Given the description of an element on the screen output the (x, y) to click on. 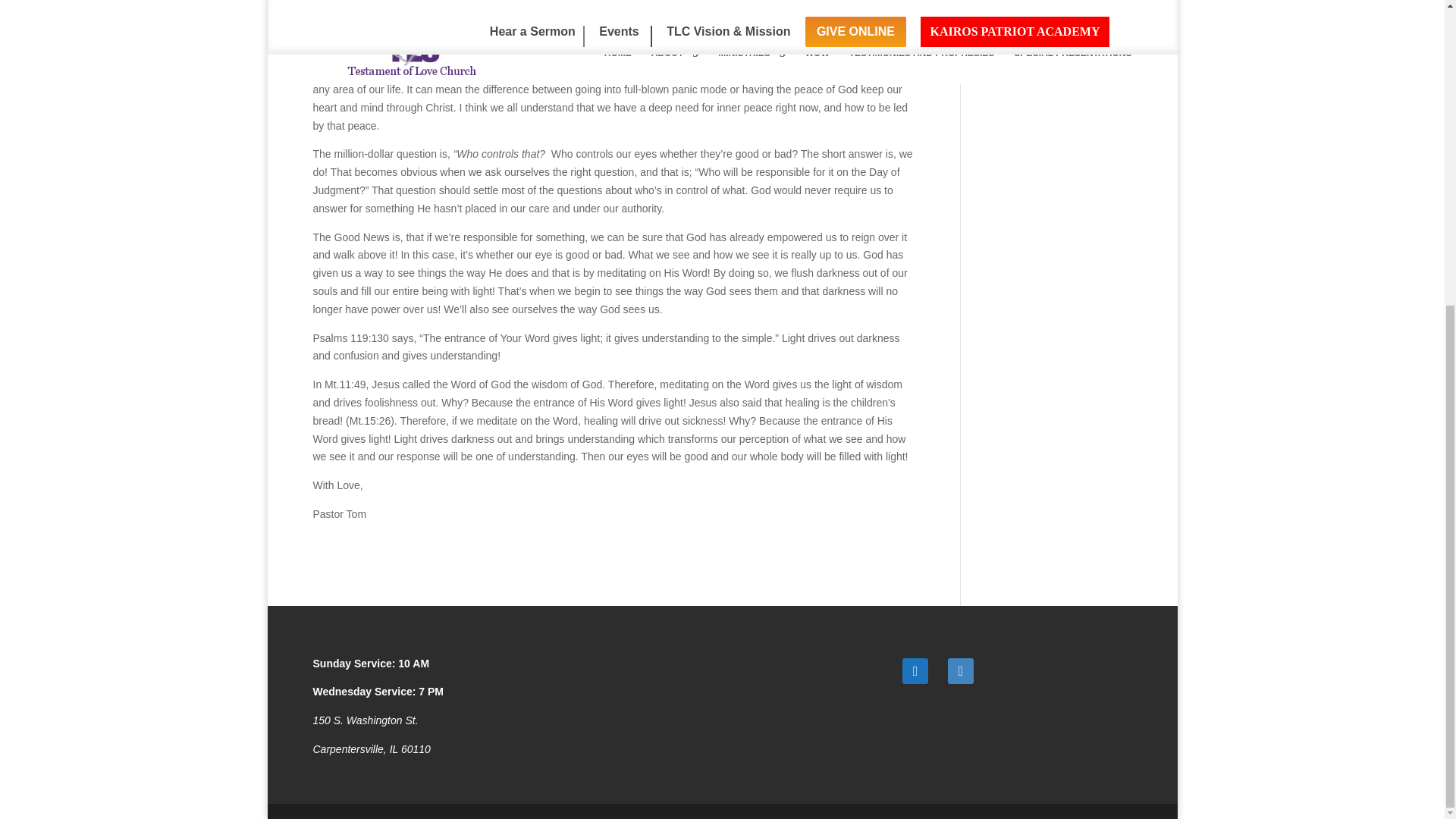
Facebook (915, 669)
facebook (915, 669)
Default Label (960, 669)
Mt. 6:22 (569, 24)
instagram (960, 669)
